Given the description of an element on the screen output the (x, y) to click on. 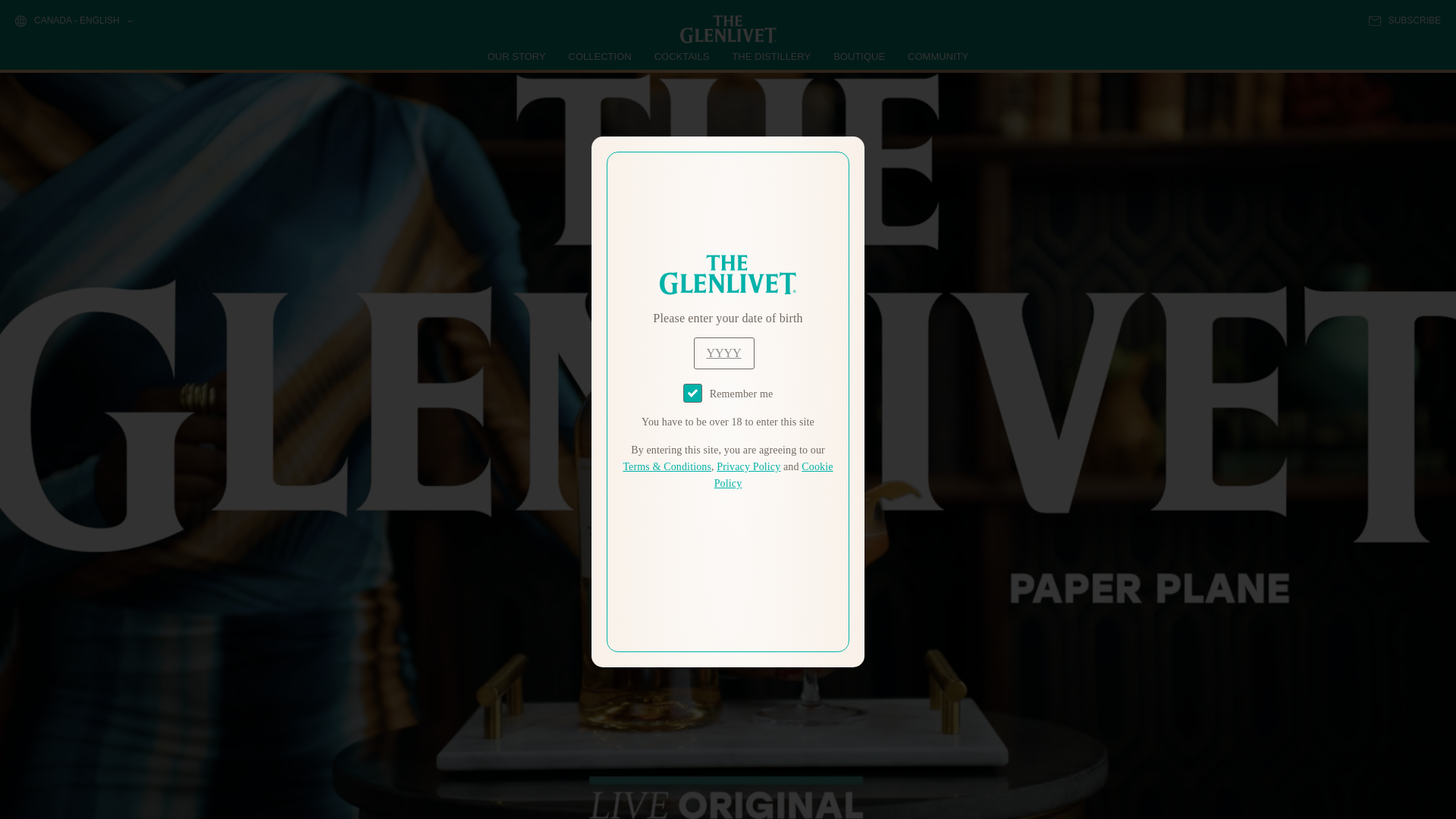
OUR STORY (516, 56)
THE DISTILLERY (771, 56)
CANADA - ENGLISH (73, 21)
COLLECTION (600, 56)
year (723, 353)
COCKTAILS (681, 56)
Cookie Policy (773, 474)
COMMUNITY (937, 56)
SUBSCRIBE (1404, 20)
BOUTIQUE (858, 56)
Privacy Policy (748, 466)
